Given the description of an element on the screen output the (x, y) to click on. 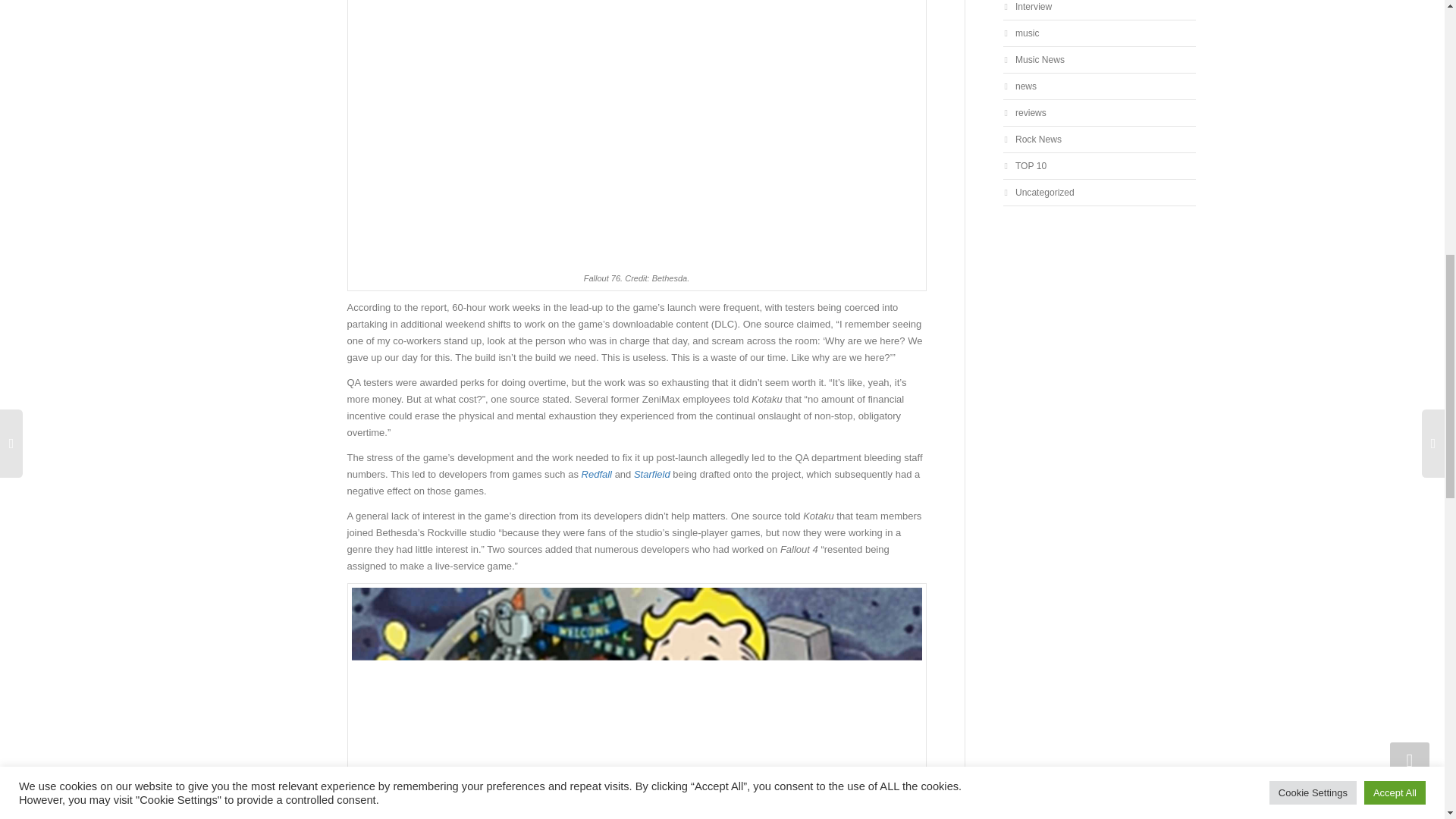
Starfield (652, 473)
Redfall (597, 473)
